Given the description of an element on the screen output the (x, y) to click on. 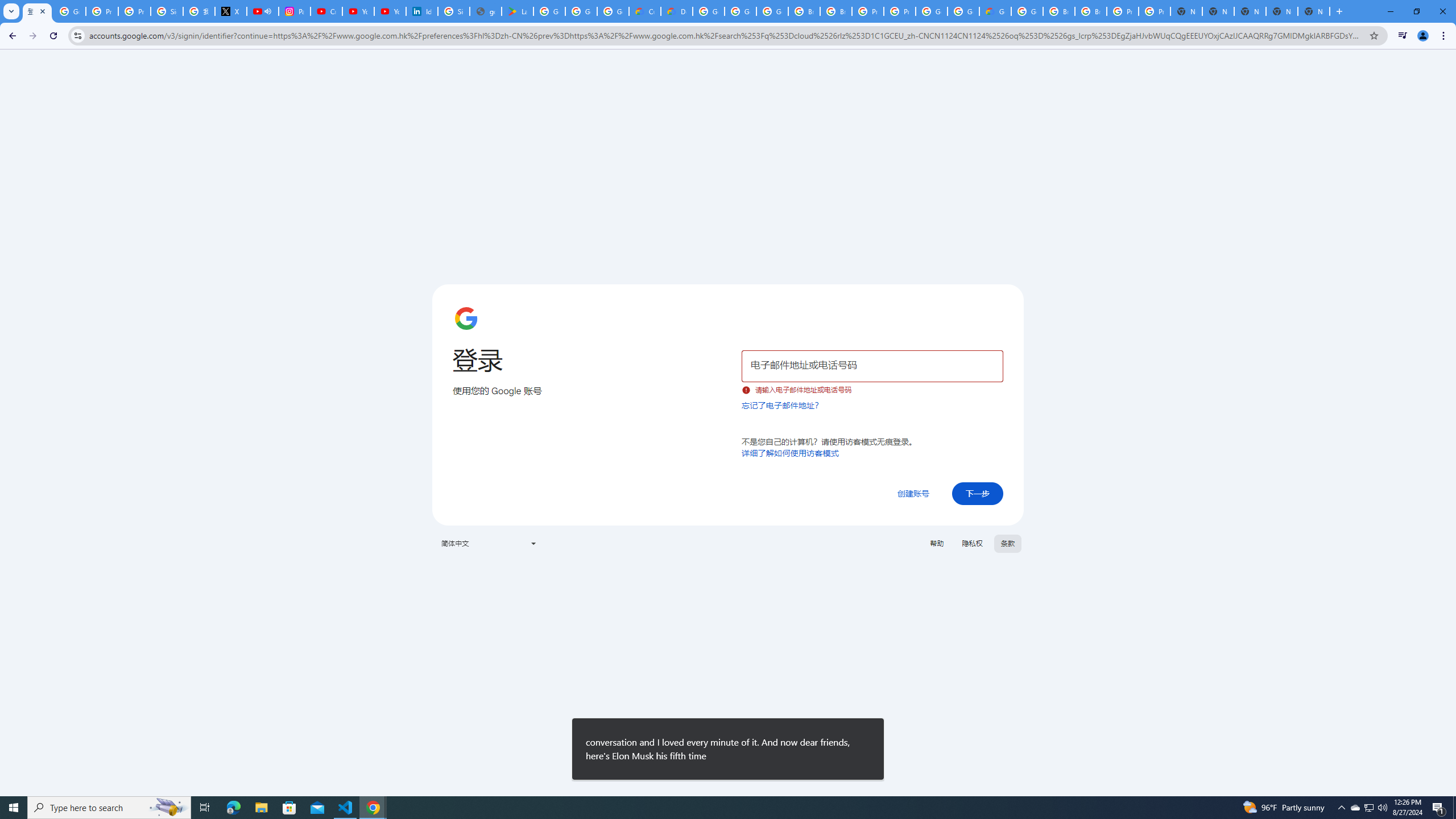
Browse Chrome as a guest - Computer - Google Chrome Help (836, 11)
YouTube Culture & Trends - YouTube Top 10, 2021 (389, 11)
Google Cloud Platform (963, 11)
Sign in - Google Accounts (166, 11)
Google Cloud Estimate Summary (995, 11)
